Given the description of an element on the screen output the (x, y) to click on. 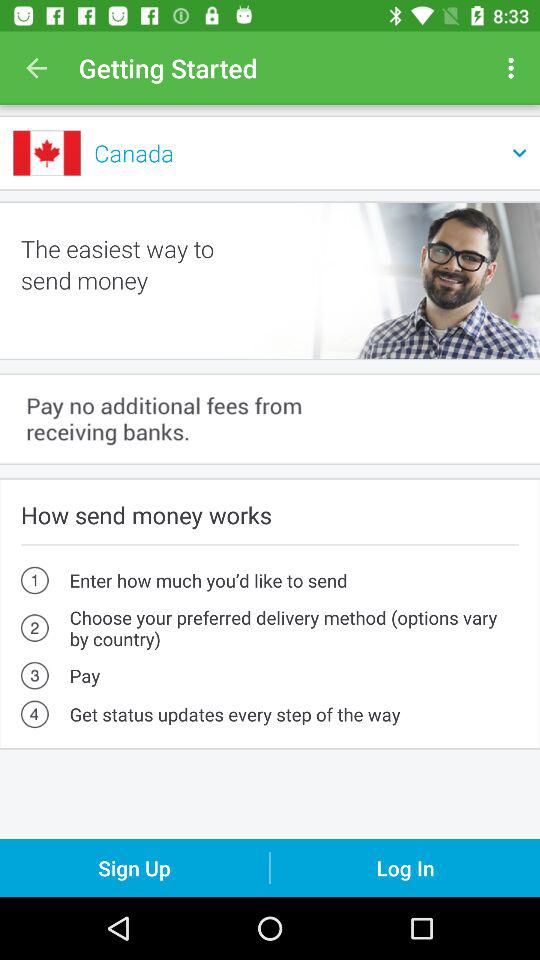
press icon below the get status updates item (134, 867)
